Given the description of an element on the screen output the (x, y) to click on. 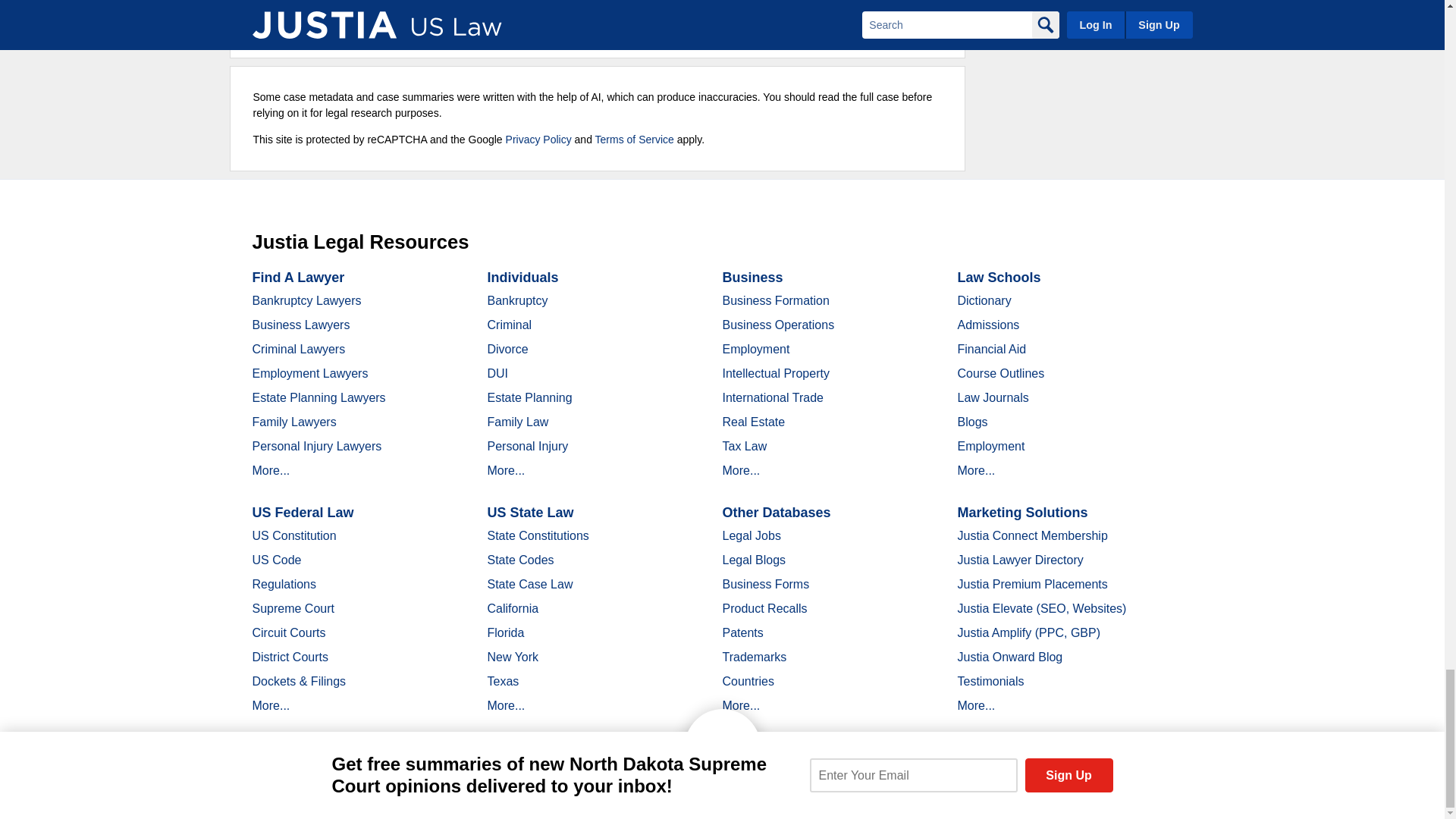
LinkedIn (398, 791)
Twitter (372, 791)
Facebook (345, 791)
